Given the description of an element on the screen output the (x, y) to click on. 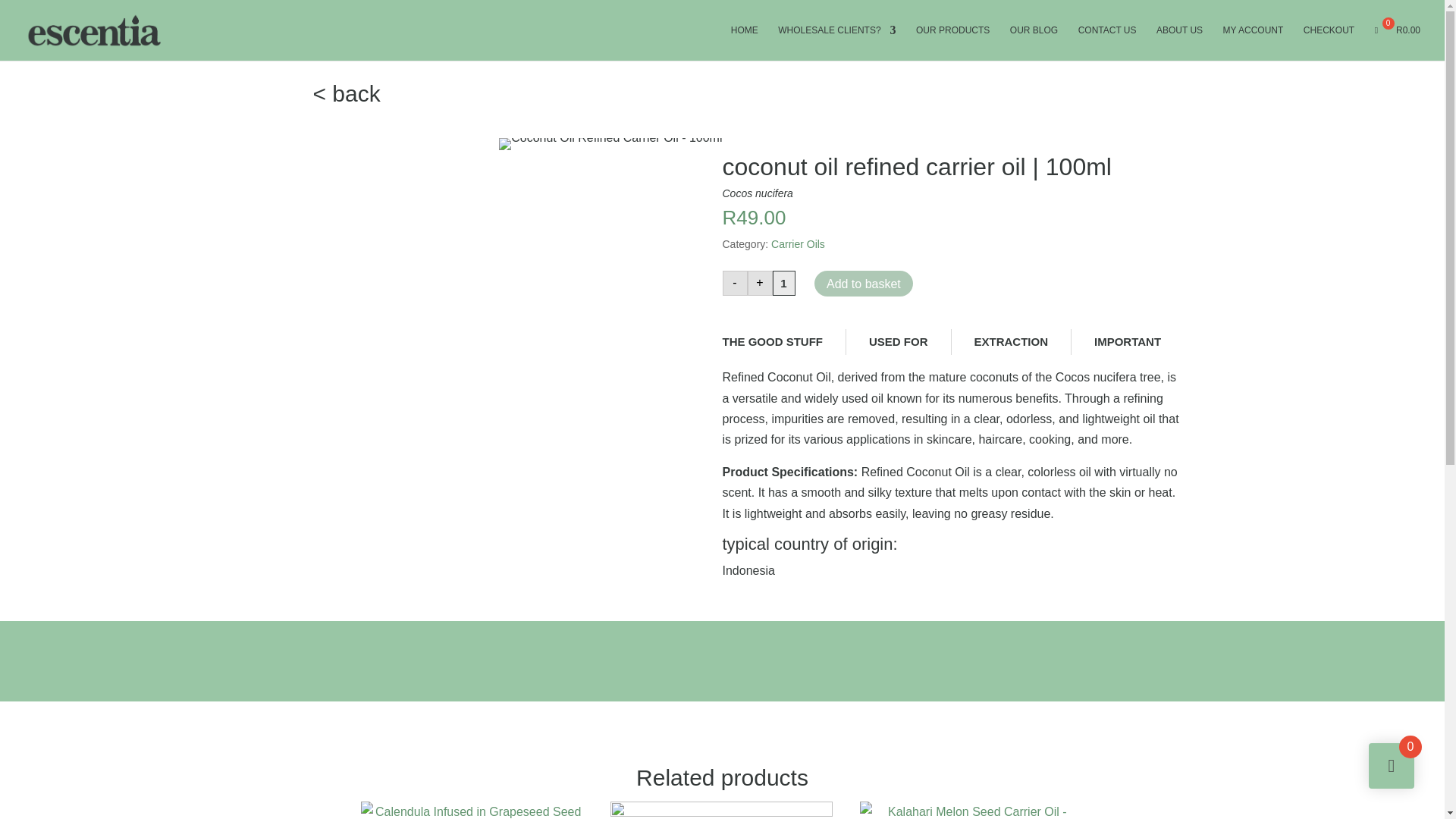
ABOUT US (1179, 42)
CONTACT US (1107, 42)
WHOLESALE CLIENTS? (836, 42)
MY ACCOUNT (1253, 42)
Carrier Oils (798, 244)
OUR BLOG (1034, 42)
THE GOOD STUFF (771, 341)
IMPORTANT (1127, 341)
R0.00 (1397, 42)
Coconut Oil Refined Carrier Oil - 100ml (610, 143)
OUR PRODUCTS (952, 42)
CHECKOUT (1328, 42)
Qty (782, 283)
EXTRACTION (1011, 341)
USED FOR (897, 341)
